Given the description of an element on the screen output the (x, y) to click on. 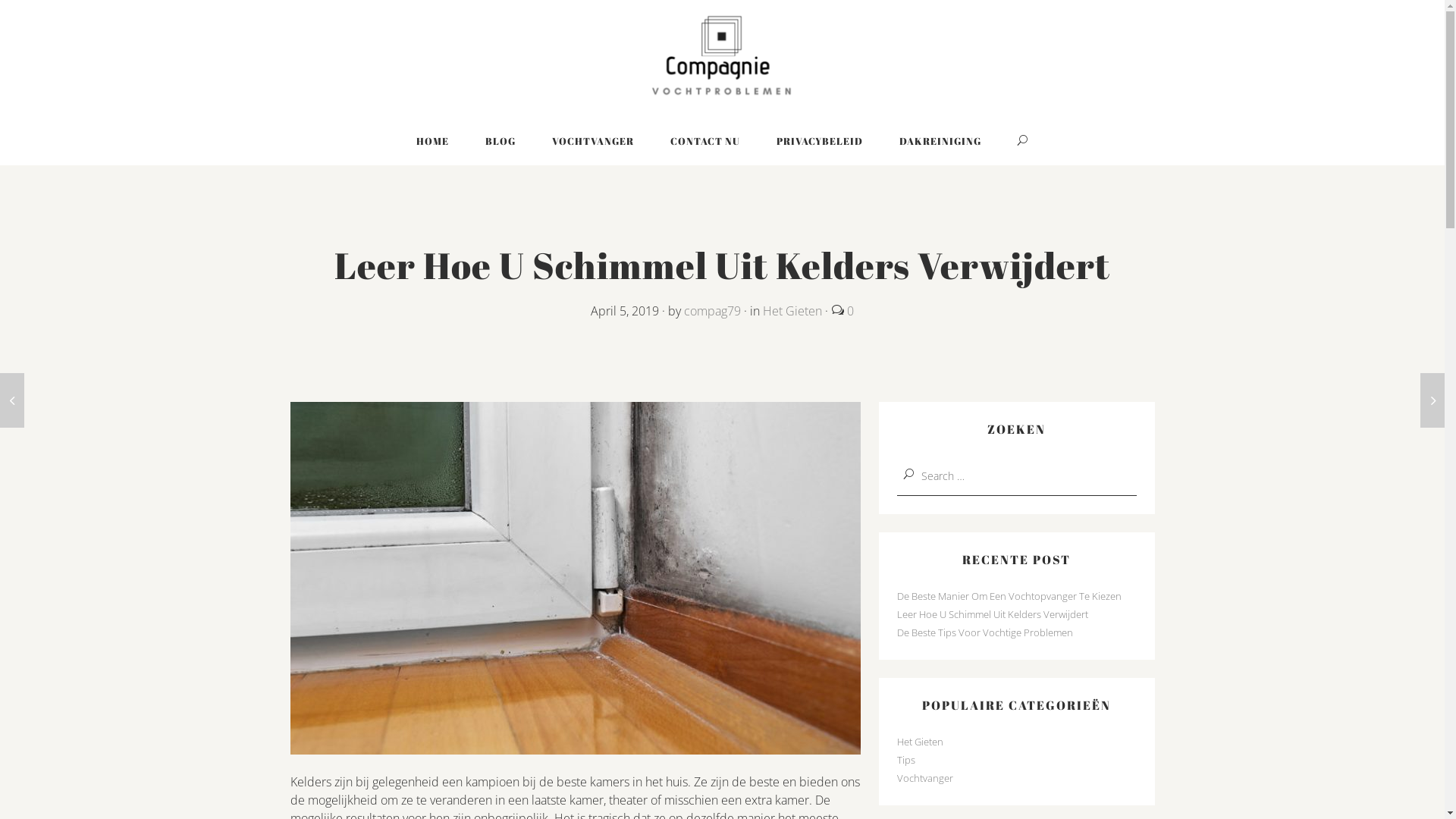
Het Gieten Element type: text (919, 741)
compag79 Element type: text (712, 310)
BLOG Element type: text (500, 140)
Vochtvanger Element type: text (924, 777)
0 Element type: text (848, 310)
Leer Hoe U Schimmel Uit Kelders Verwijdert Element type: text (991, 614)
Het Gieten Element type: text (792, 310)
PRIVACYBELEID Element type: text (819, 140)
De Beste Tips Voor Vochtige Problemen Element type: text (984, 632)
VOCHTVANGER Element type: text (592, 140)
HOME Element type: text (432, 140)
CONTACT NU Element type: text (705, 140)
Vochtproblemen Element type: hover (721, 58)
Search Element type: text (21, 9)
Search Element type: text (1022, 140)
Tips Element type: text (905, 759)
De Beste Manier Om Een Vochtopvanger Te Kiezen Element type: text (1008, 595)
Search Element type: text (24, 10)
DAKREINIGING Element type: text (940, 140)
